Given the description of an element on the screen output the (x, y) to click on. 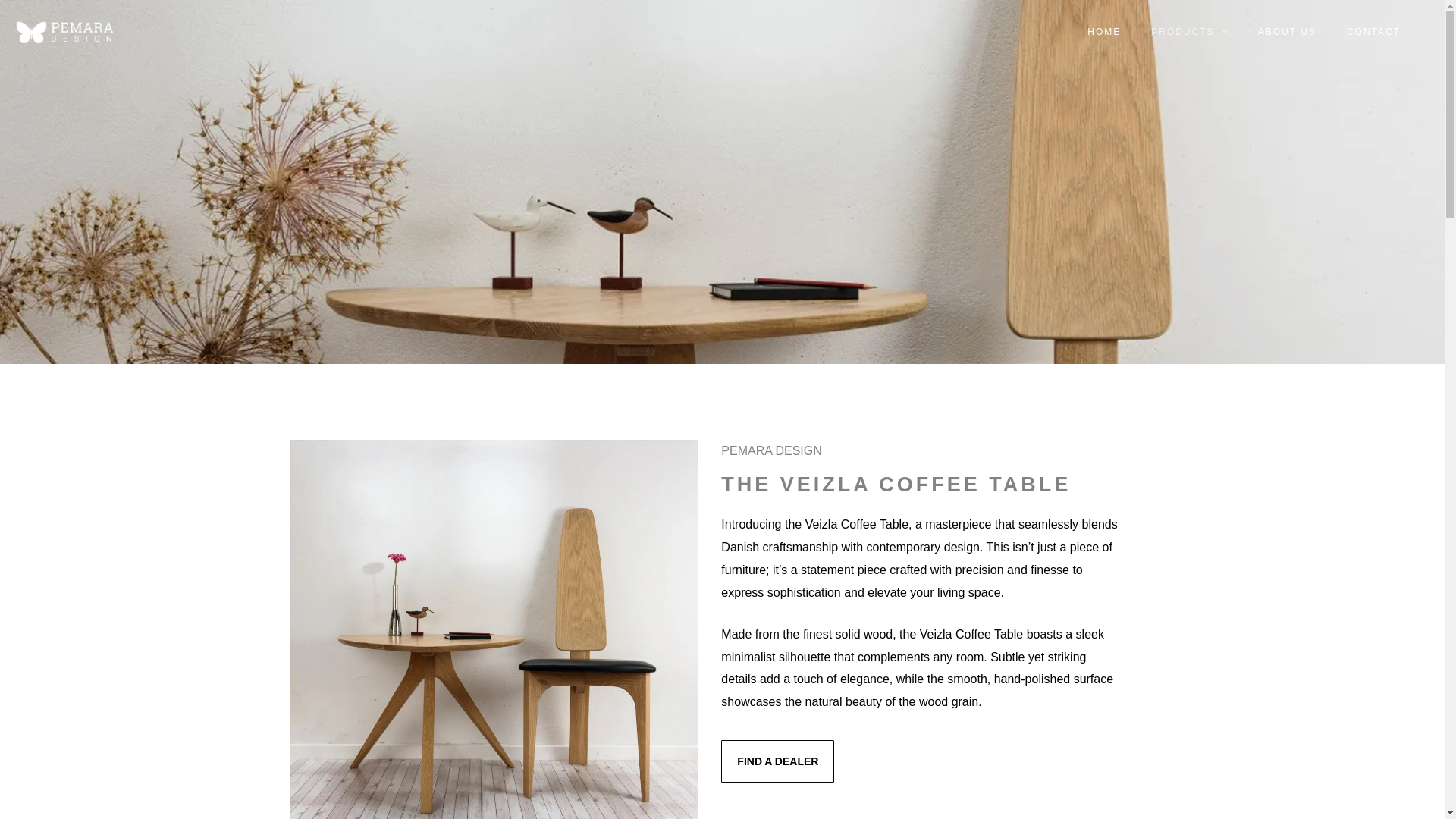
CONTACT (1373, 31)
PRODUCTS (1189, 31)
HOME (1103, 31)
FIND A DEALER (777, 761)
ABOUT US (1287, 31)
